Given the description of an element on the screen output the (x, y) to click on. 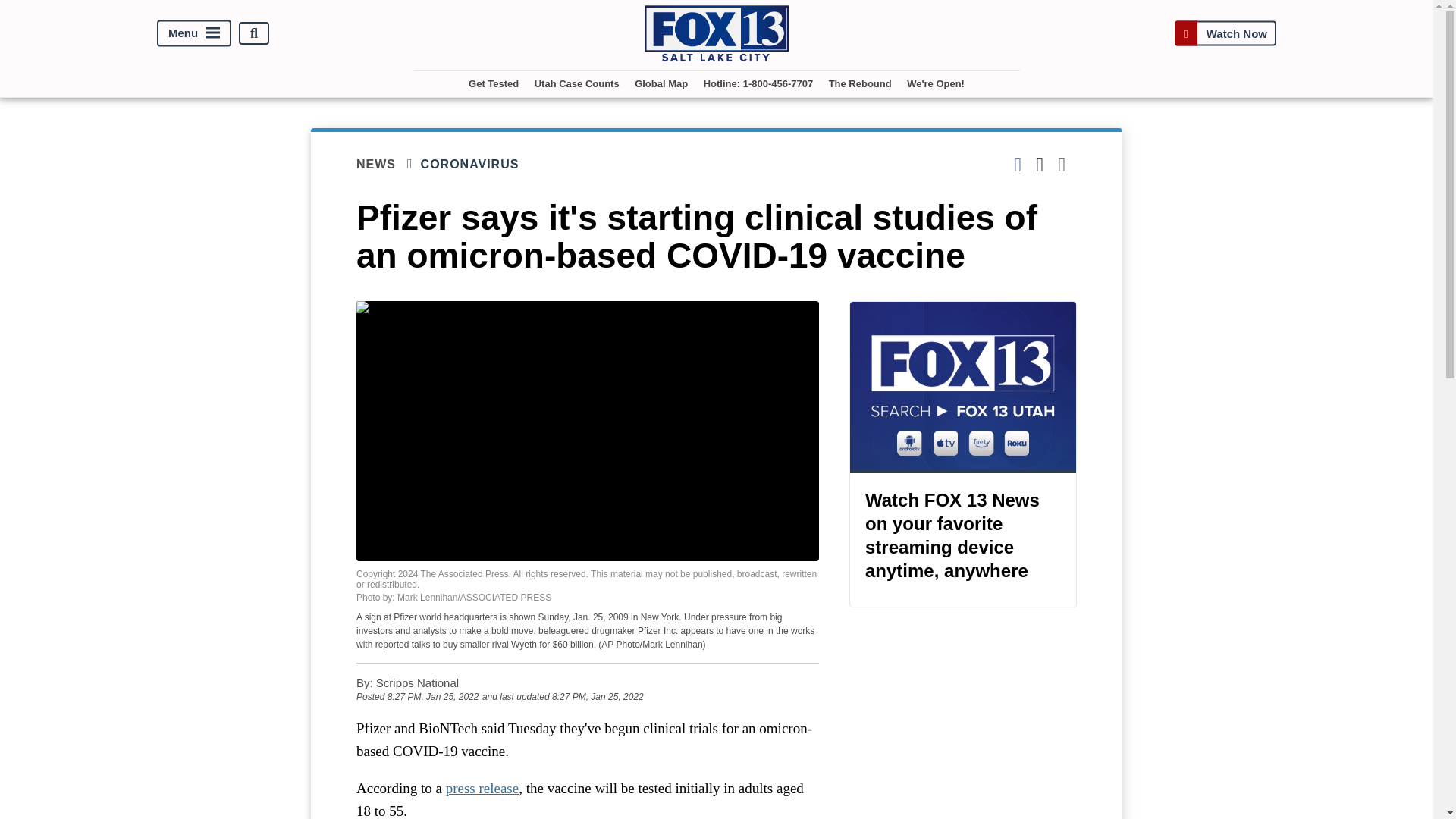
Menu (194, 33)
Watch Now (1224, 33)
